Given the description of an element on the screen output the (x, y) to click on. 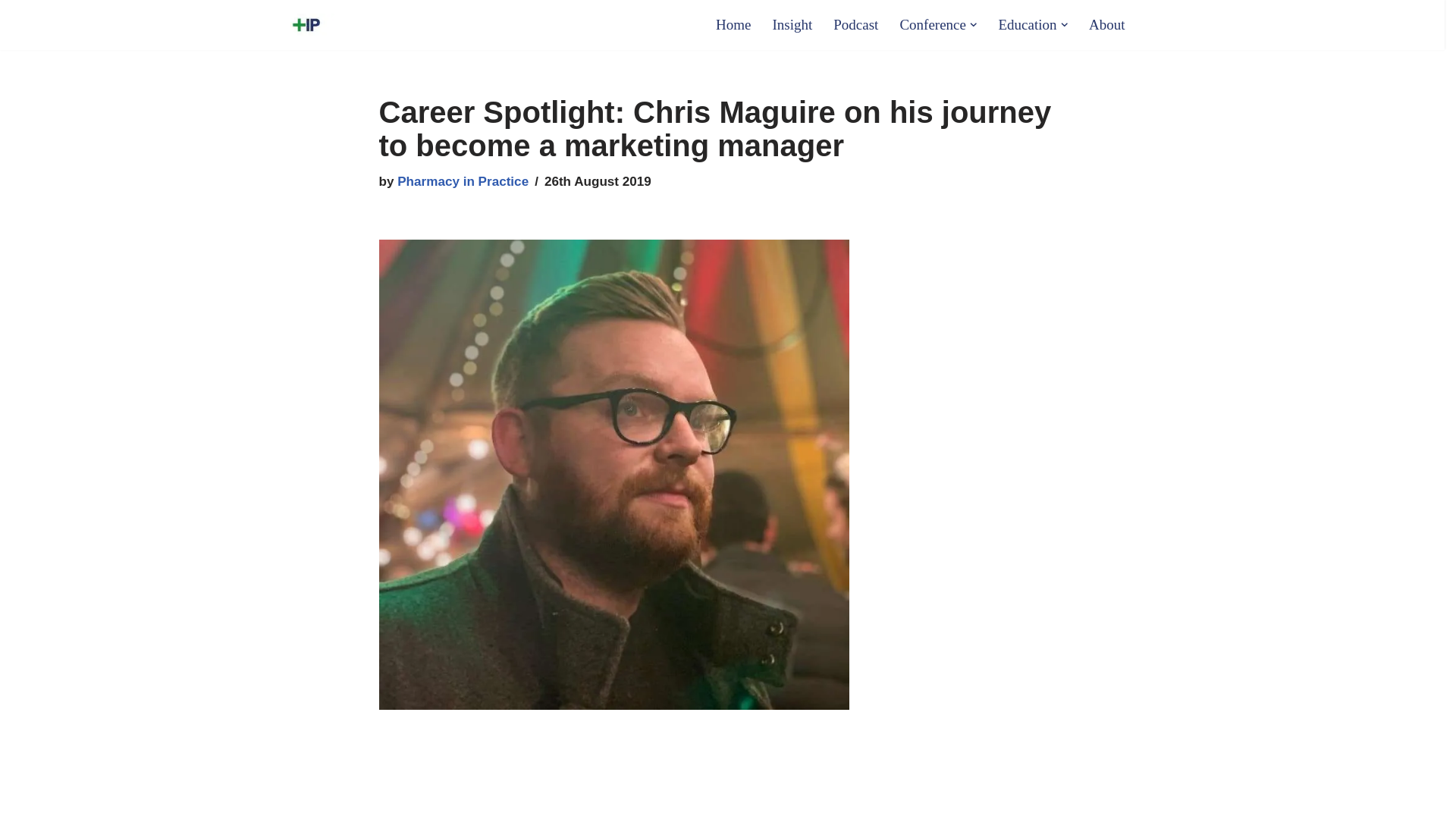
Home (733, 24)
Insight (792, 24)
Posts by Pharmacy in Practice (462, 181)
About (1107, 24)
Conference (932, 24)
Pharmacy in Practice (462, 181)
Podcast (854, 24)
Skip to content (11, 31)
Education (1027, 24)
